Given the description of an element on the screen output the (x, y) to click on. 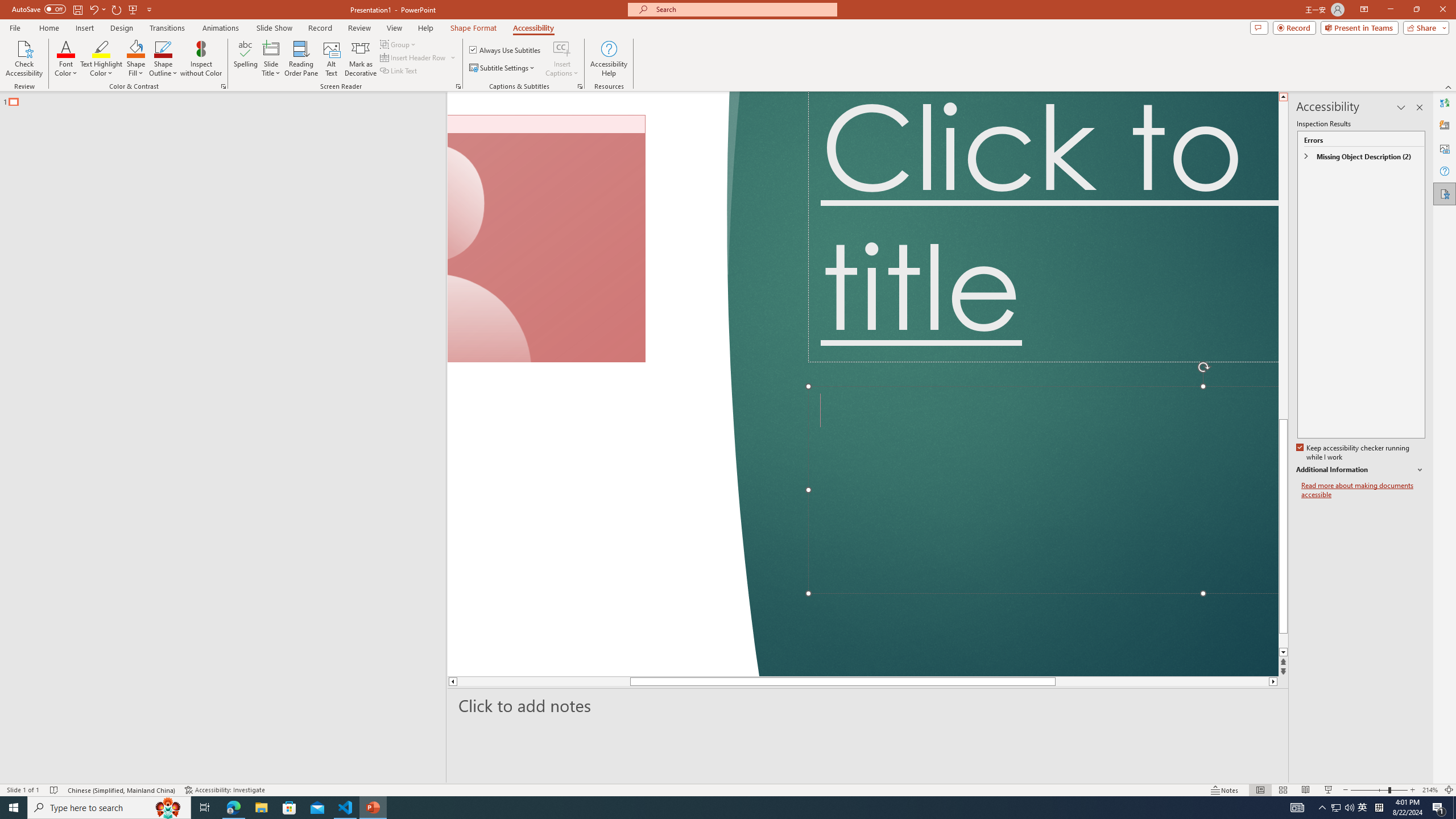
Shape Format (473, 28)
Always Use Subtitles (505, 49)
Font Color Red (65, 48)
Decorative Locked (602, 383)
Captions & Subtitles (580, 85)
Page down (1052, 681)
Title TextBox (1043, 226)
Subtitle TextBox (1043, 489)
Slide Notes (868, 705)
Alt Text (1444, 147)
